Given the description of an element on the screen output the (x, y) to click on. 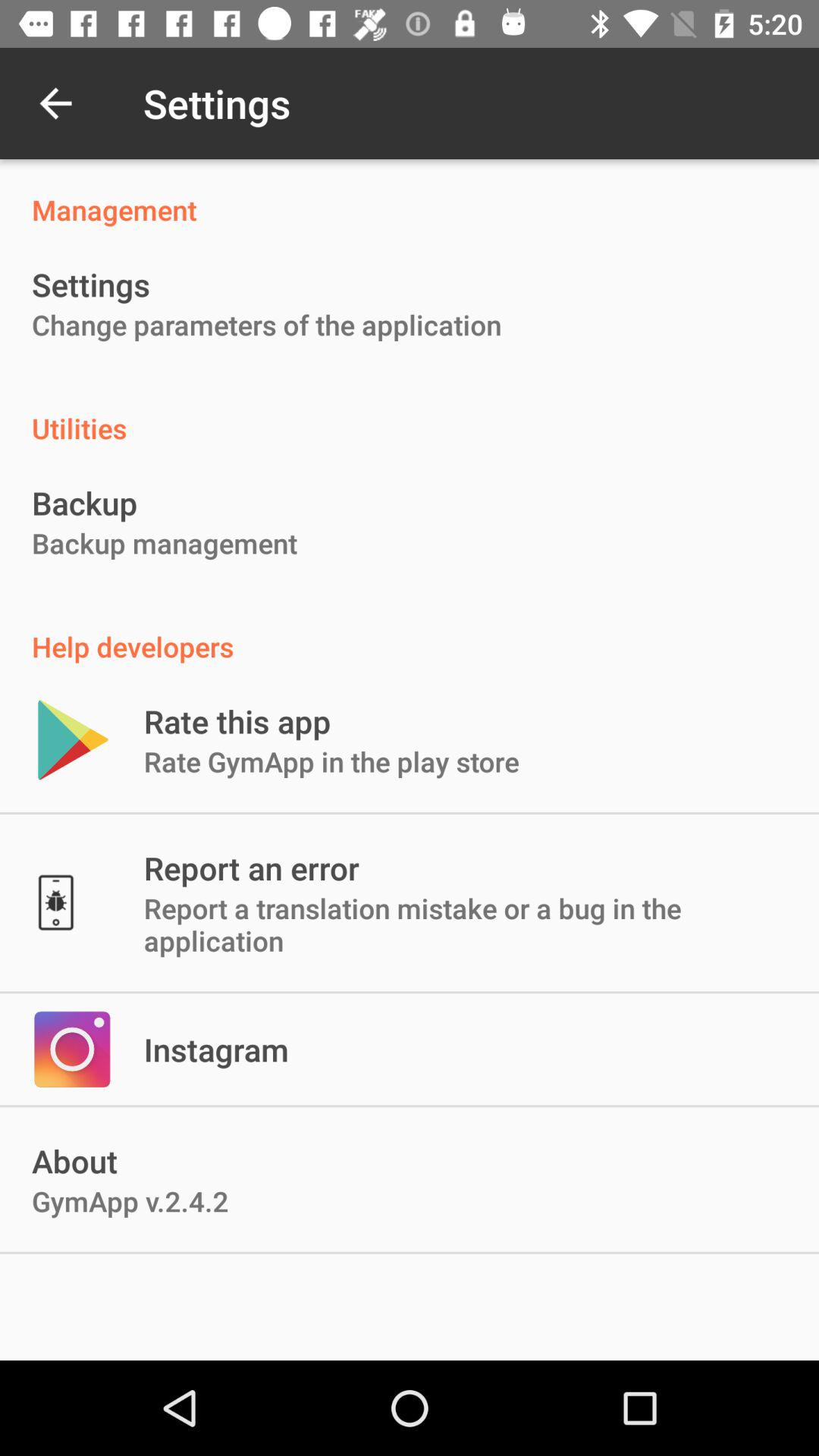
click the item above the help developers (164, 542)
